Given the description of an element on the screen output the (x, y) to click on. 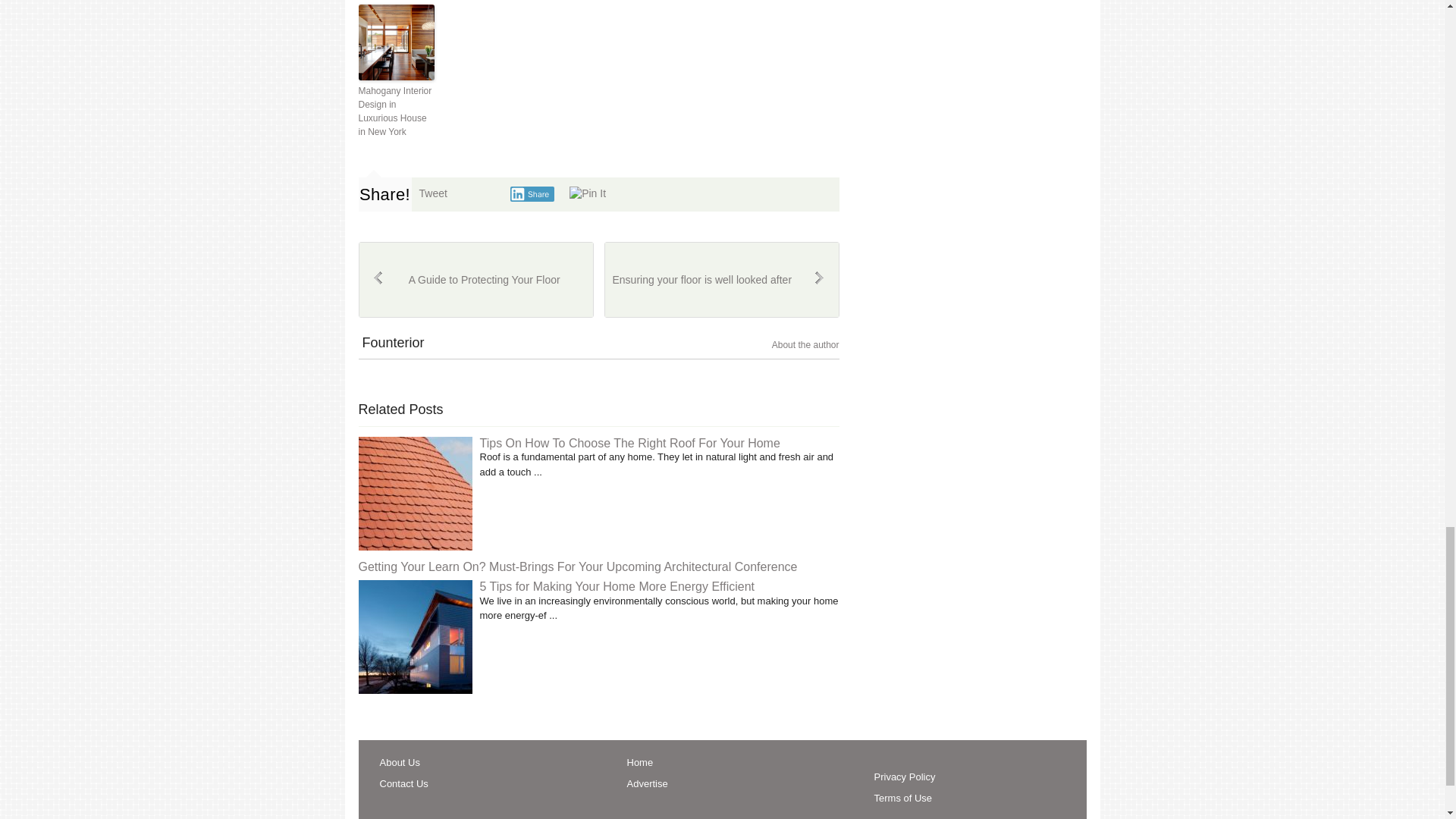
Pin It (587, 193)
